Given the description of an element on the screen output the (x, y) to click on. 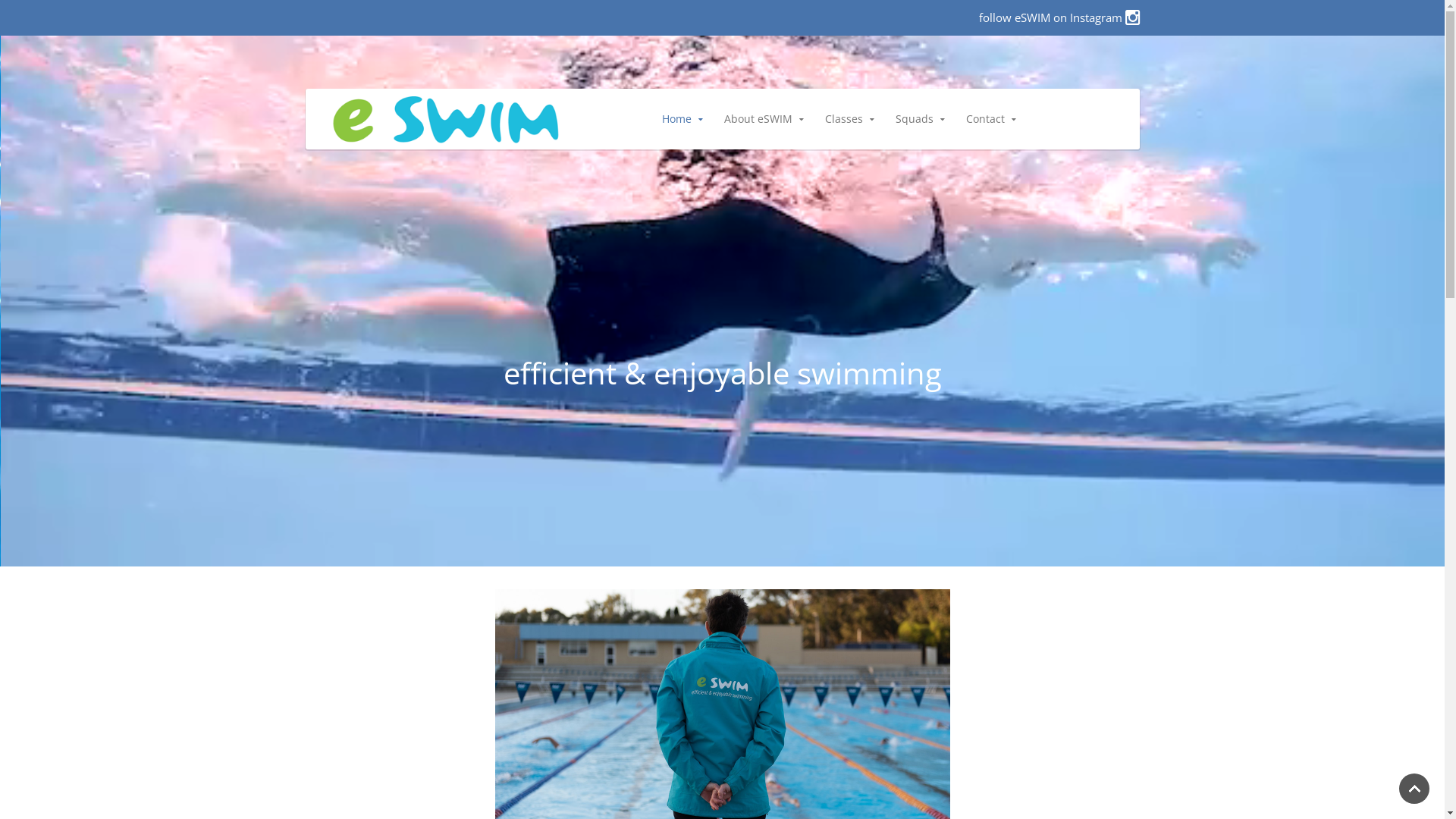
Squads Element type: text (916, 118)
About eSWIM Element type: text (760, 118)
Home Element type: text (679, 118)
Classes Element type: text (846, 118)
Contact Element type: text (987, 118)
